Given the description of an element on the screen output the (x, y) to click on. 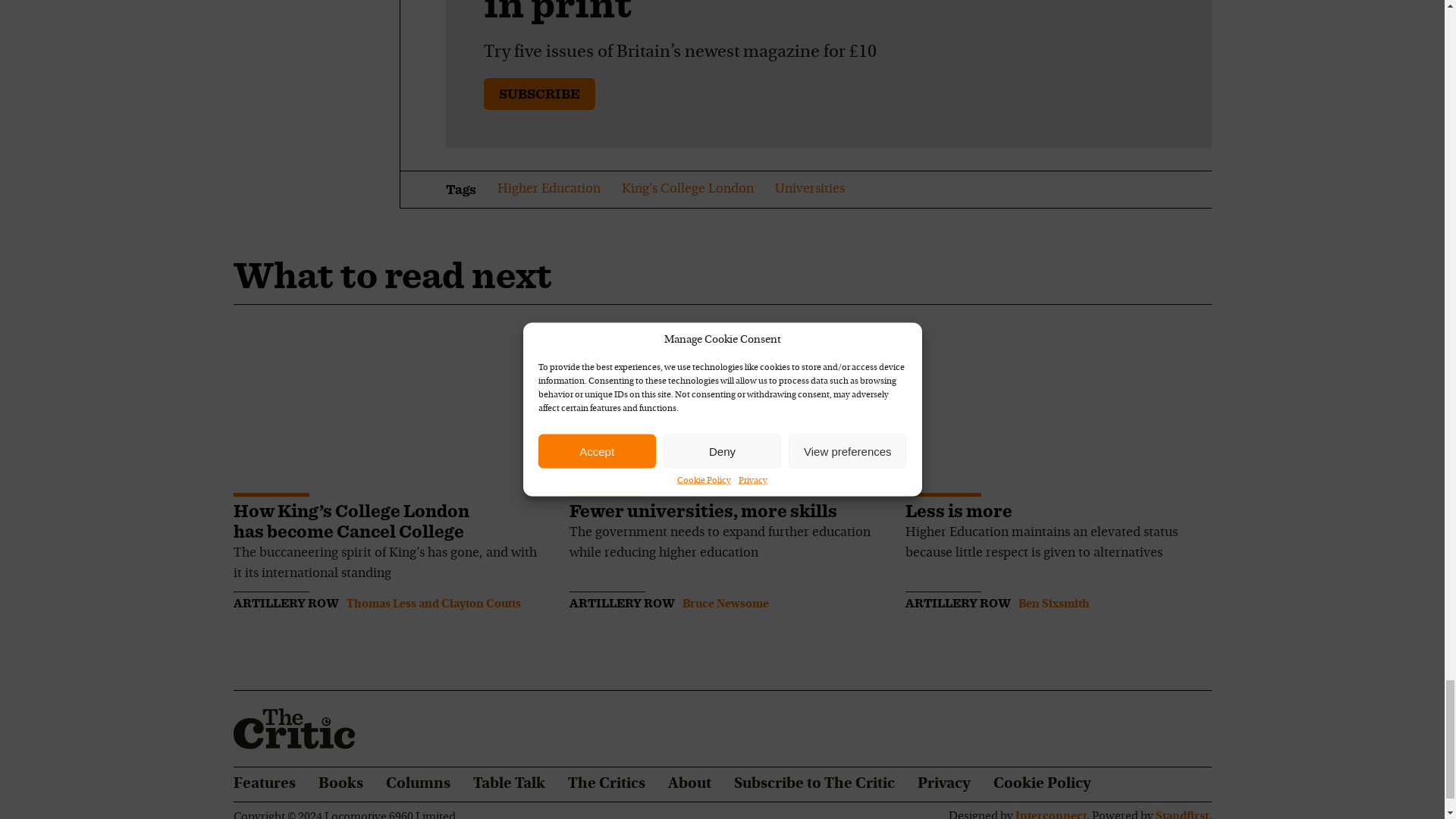
Posts by Bruce Newsome (725, 604)
Posts by Ben Sixsmith (1053, 604)
Posts by Thomas Less and Clayton Coutts (432, 604)
